Given the description of an element on the screen output the (x, y) to click on. 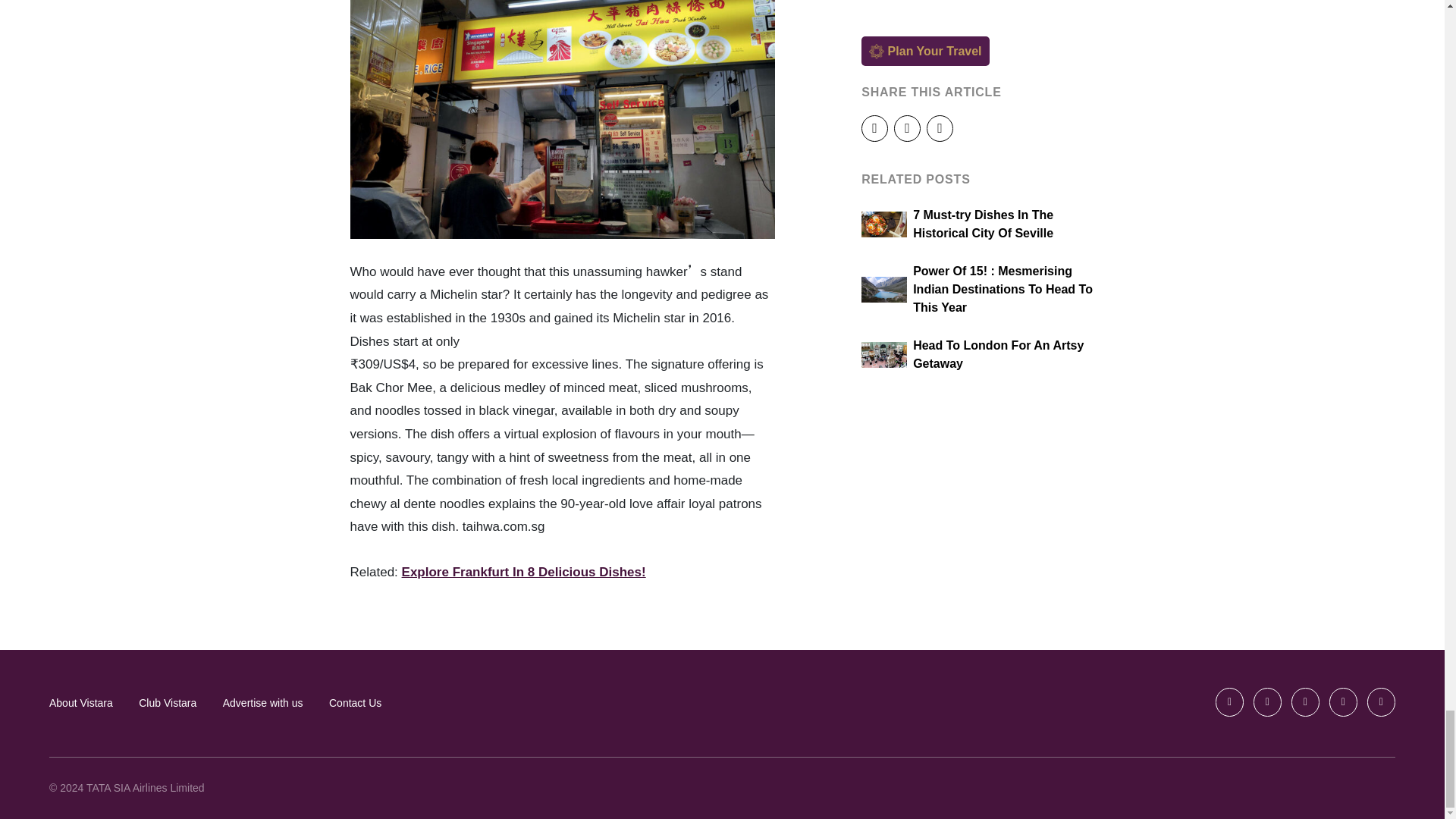
Instagram (1305, 701)
Club Vistara (167, 703)
Explore Frankfurt In 8 Delicious Dishes! (523, 572)
Twitter (1267, 701)
About Vistara (81, 703)
Advertise with us (262, 703)
Youtube (1343, 701)
Facebook (1229, 701)
LinkedIn (1380, 701)
Contact Us (355, 703)
